Given the description of an element on the screen output the (x, y) to click on. 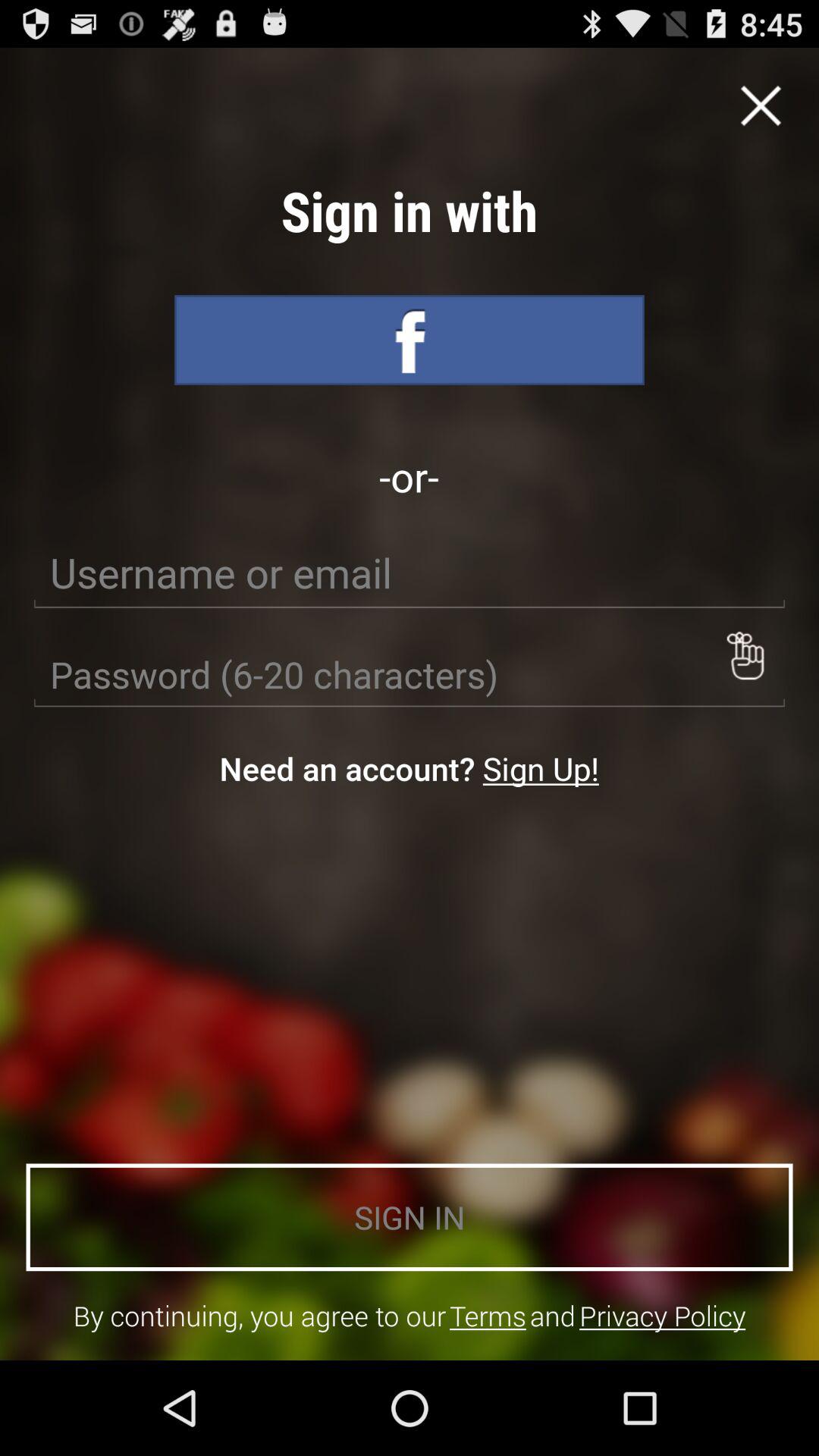
select icon to the right of the by continuing you item (487, 1315)
